Given the description of an element on the screen output the (x, y) to click on. 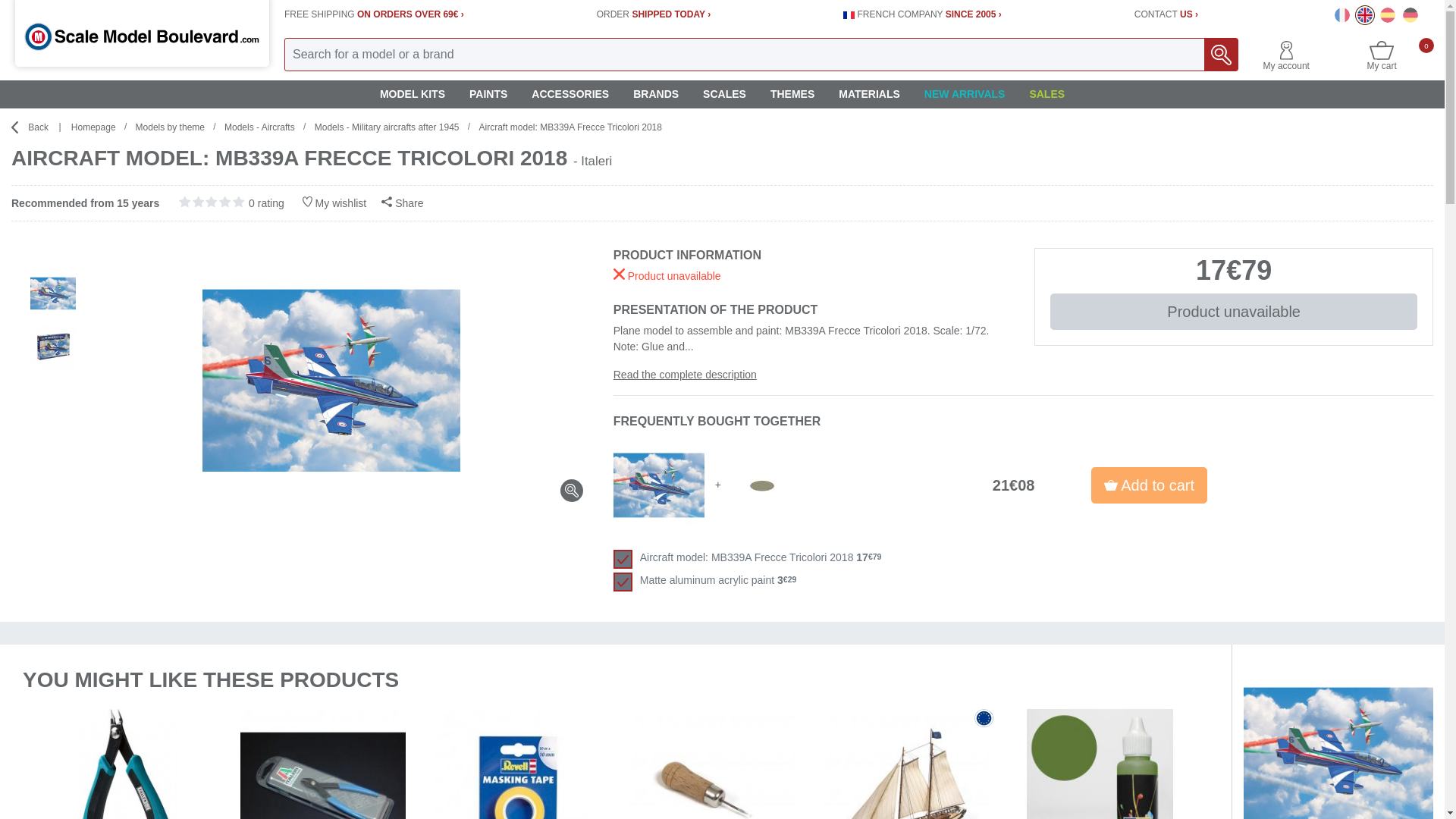
Rue des Maquettes (1342, 14)
My account (1286, 60)
MATERIALS (869, 94)
My account (1286, 60)
ACCESSORIES (570, 94)
THEMES (792, 94)
SCALES (724, 94)
PAINTS (488, 94)
MODEL KITS (412, 94)
Modellbau Boulevard (1410, 14)
My cart (1381, 60)
Scale Model Boulevard (1381, 60)
Search (1364, 14)
Find out more (1221, 54)
